Given the description of an element on the screen output the (x, y) to click on. 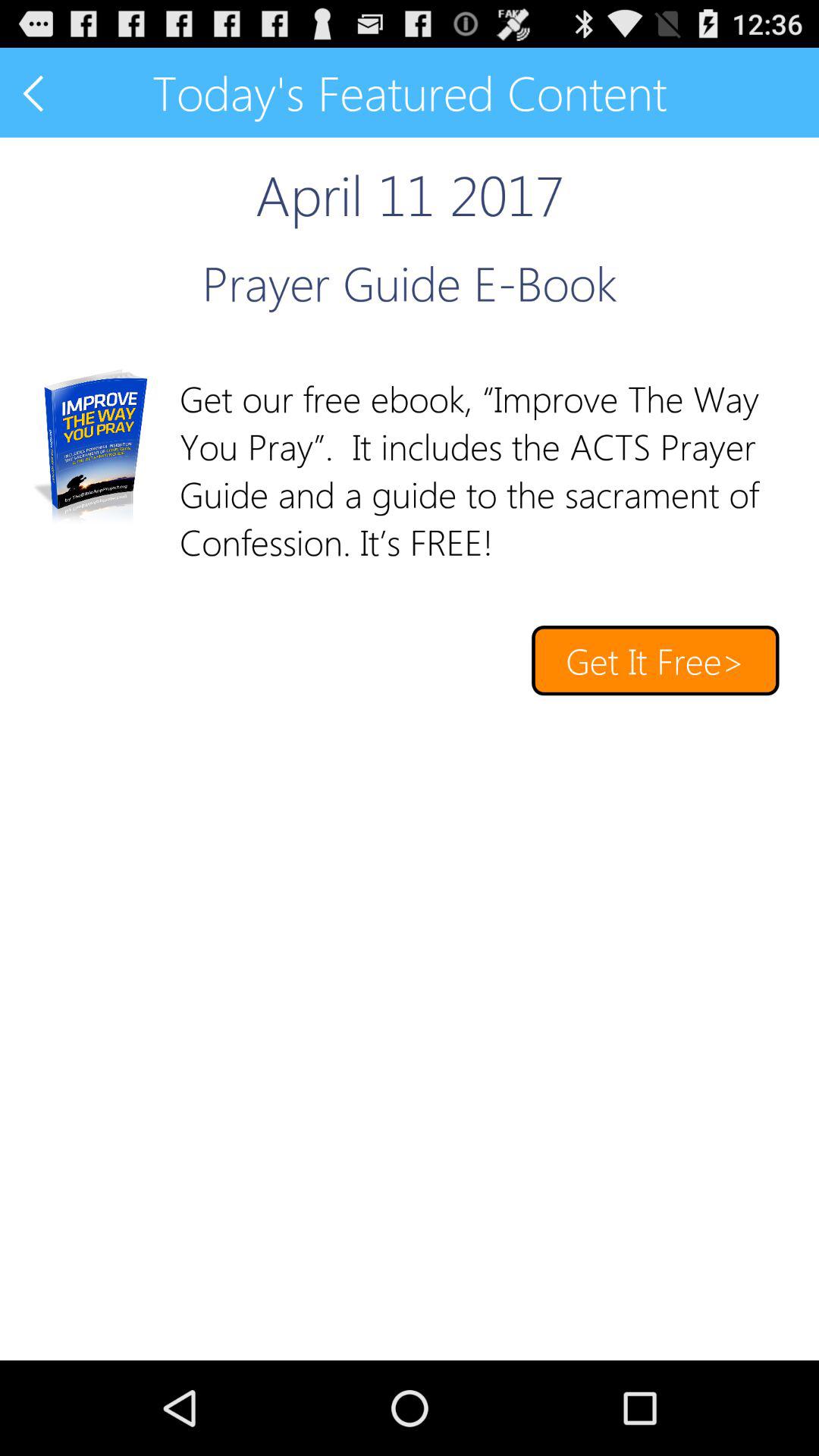
launch the item above april 11 2017 (34, 92)
